Given the description of an element on the screen output the (x, y) to click on. 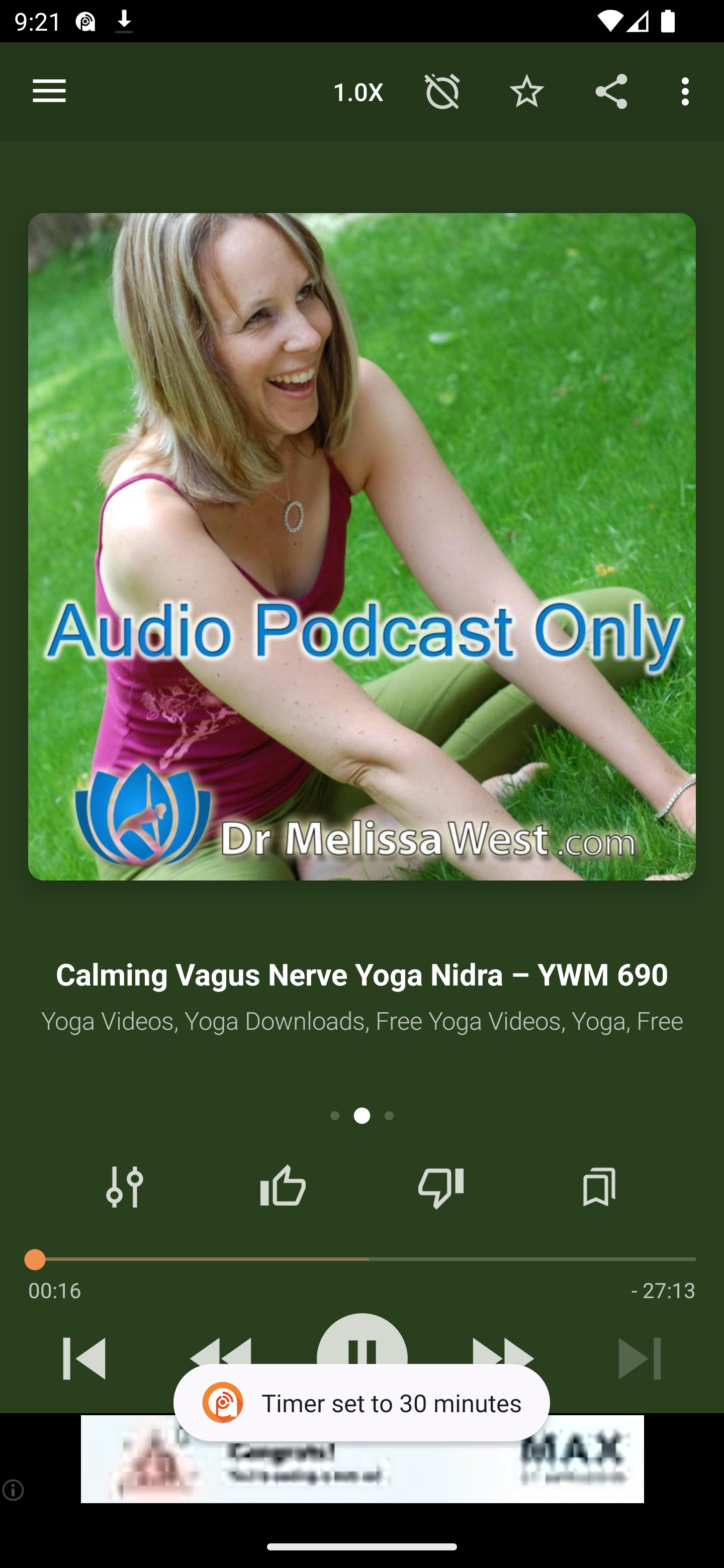
Open navigation sidebar (49, 91)
1.0X (357, 90)
Sleep Timer (442, 90)
Favorite (526, 90)
Share (611, 90)
More options (688, 90)
Episode description (361, 547)
Audio effects (124, 1186)
Thumbs up (283, 1186)
Thumbs down (440, 1186)
Chapters / Bookmarks (598, 1186)
- 27:13 (663, 1289)
Previous track (84, 1358)
Next track (639, 1358)
app-monetization (362, 1459)
(i) (14, 1489)
